Given the description of an element on the screen output the (x, y) to click on. 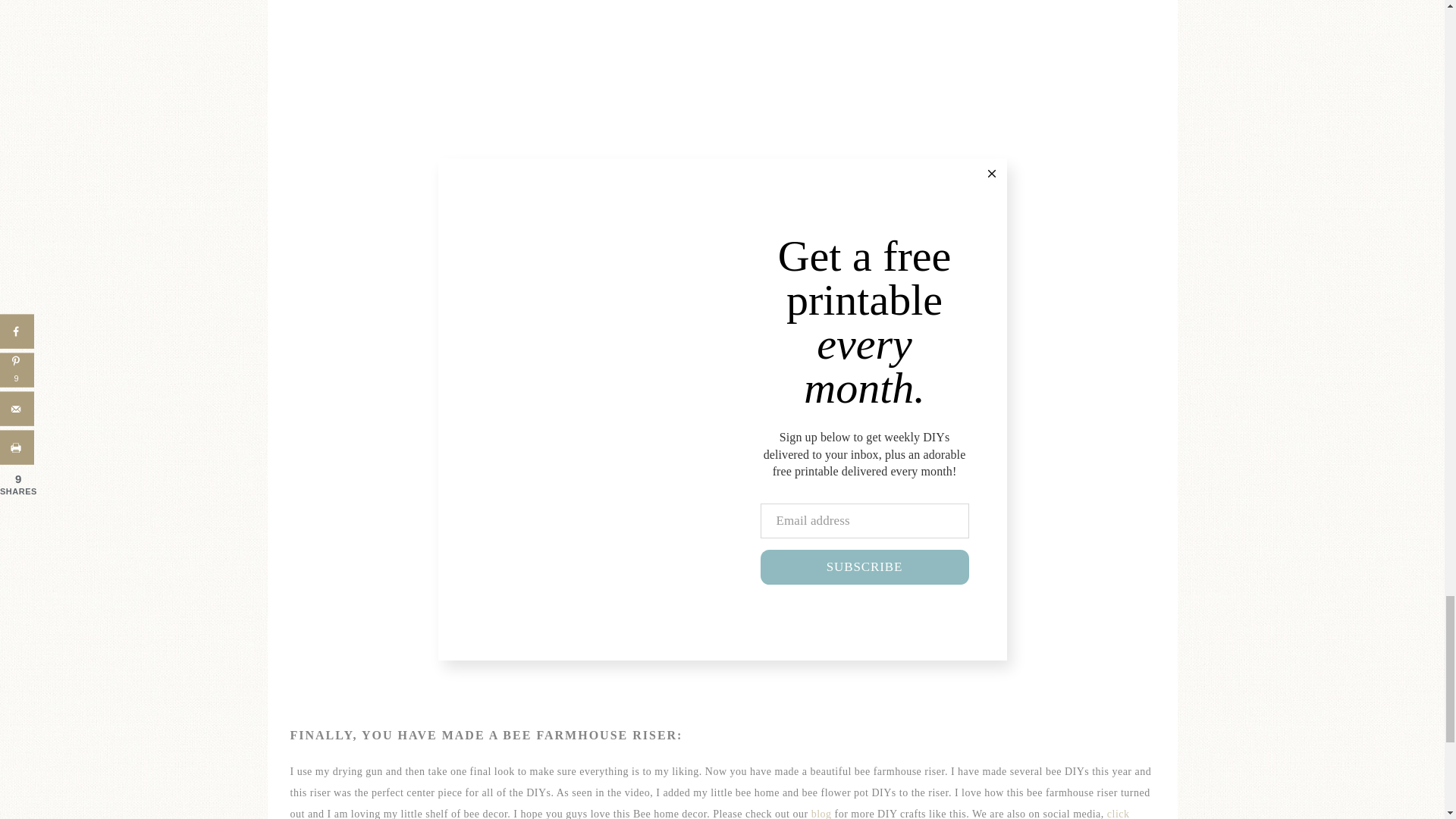
click here (709, 813)
blog (820, 813)
